Given the description of an element on the screen output the (x, y) to click on. 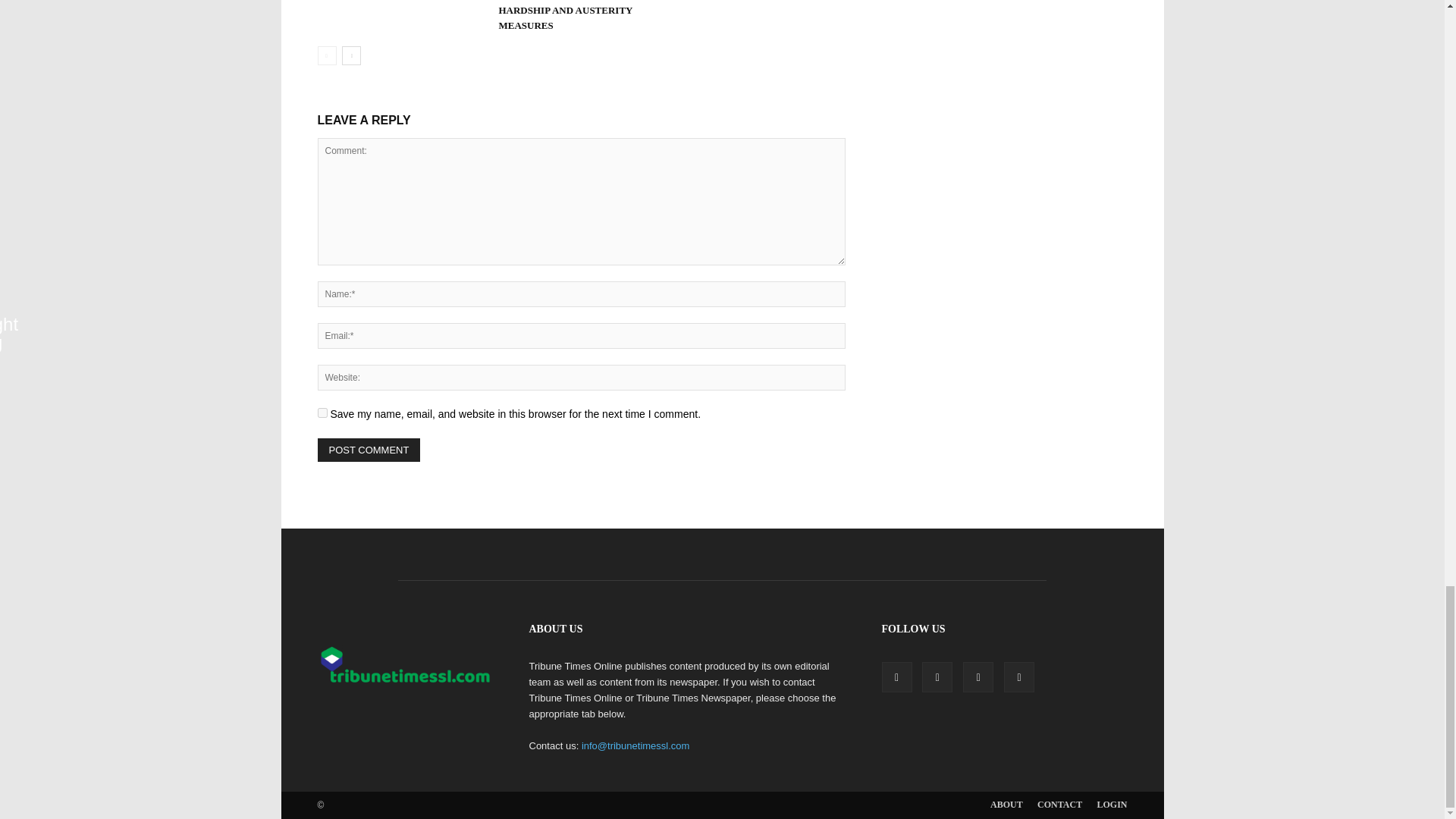
Post Comment (368, 449)
yes (321, 412)
